Given the description of an element on the screen output the (x, y) to click on. 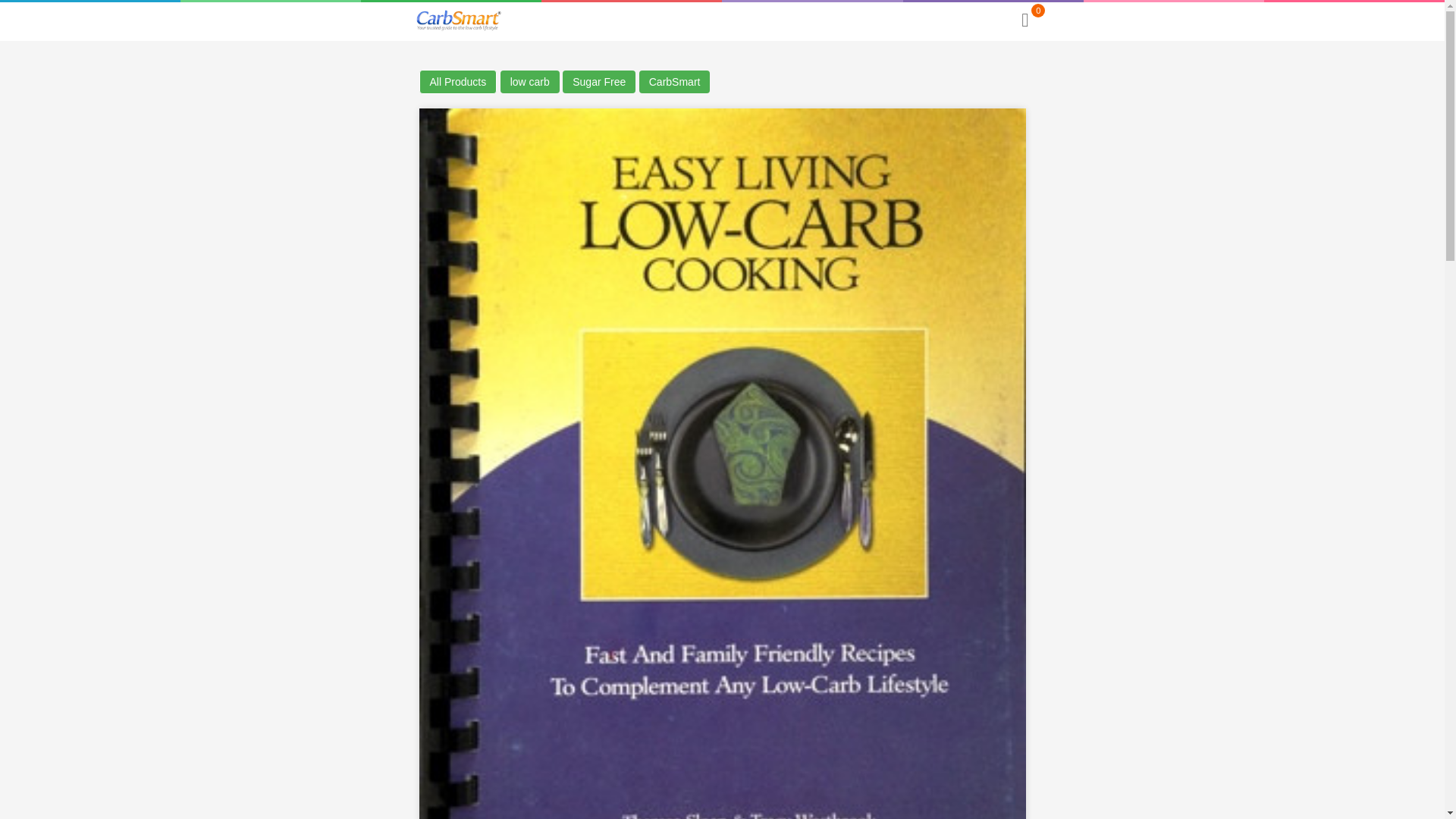
low carb (529, 81)
0 (1023, 20)
CarbSmart (674, 81)
Sugar Free (598, 81)
All Products (457, 81)
